Given the description of an element on the screen output the (x, y) to click on. 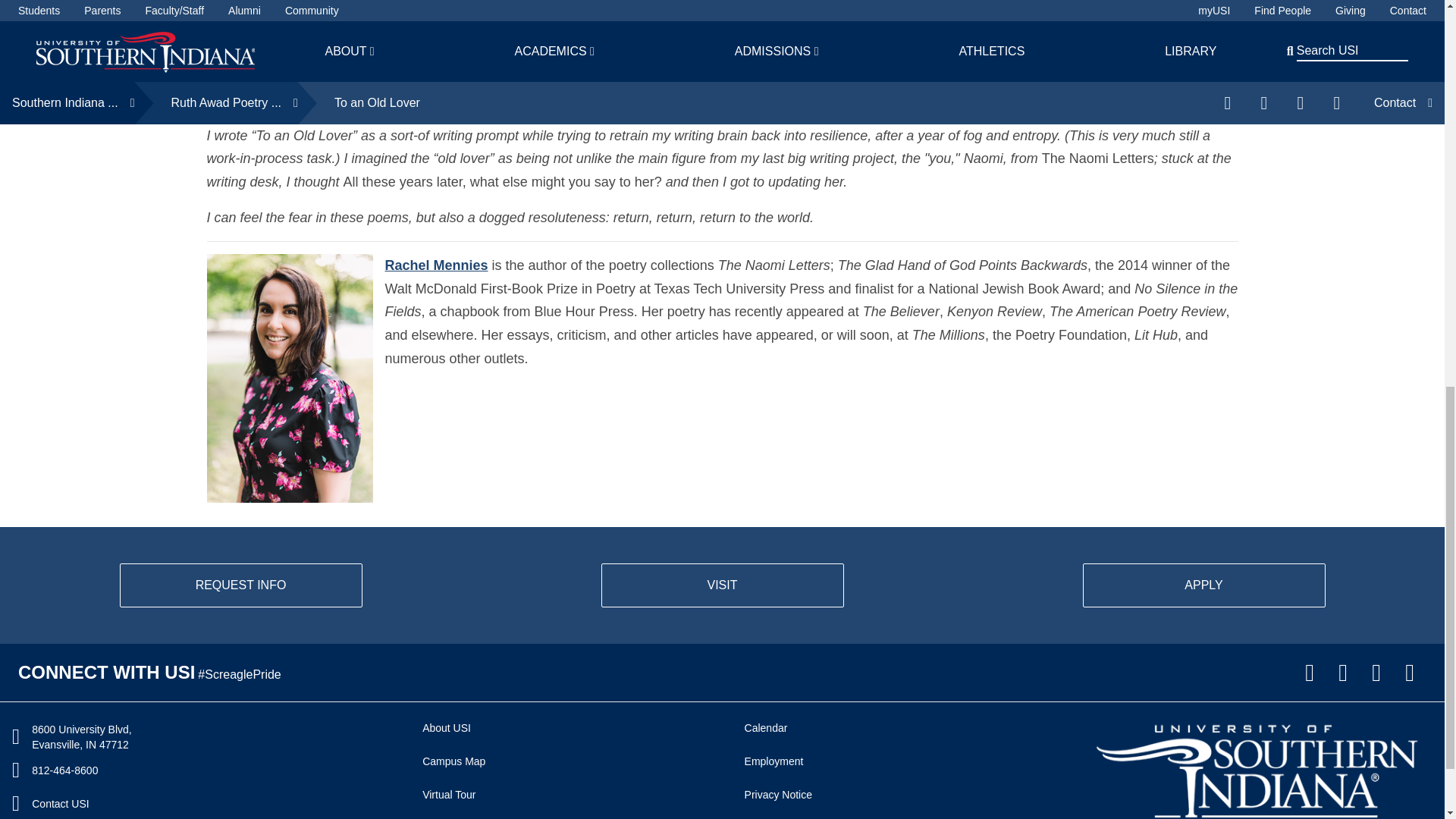
Rachel Mennies Homepage (436, 264)
